Given the description of an element on the screen output the (x, y) to click on. 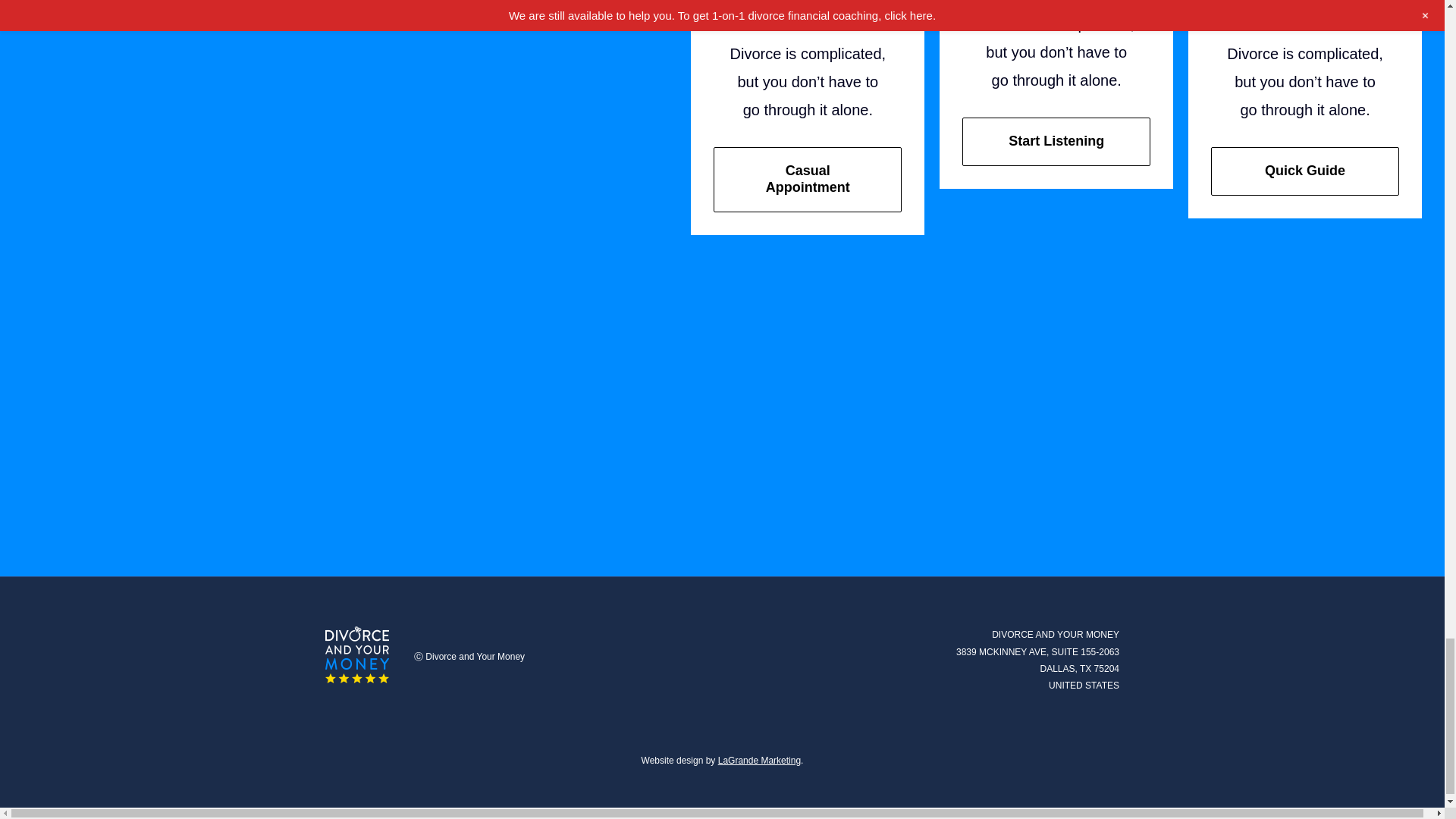
Start Listening (1056, 141)
LaGrande Marketing (758, 760)
Casual Appointment (807, 179)
Quick Guide (1305, 171)
